Given the description of an element on the screen output the (x, y) to click on. 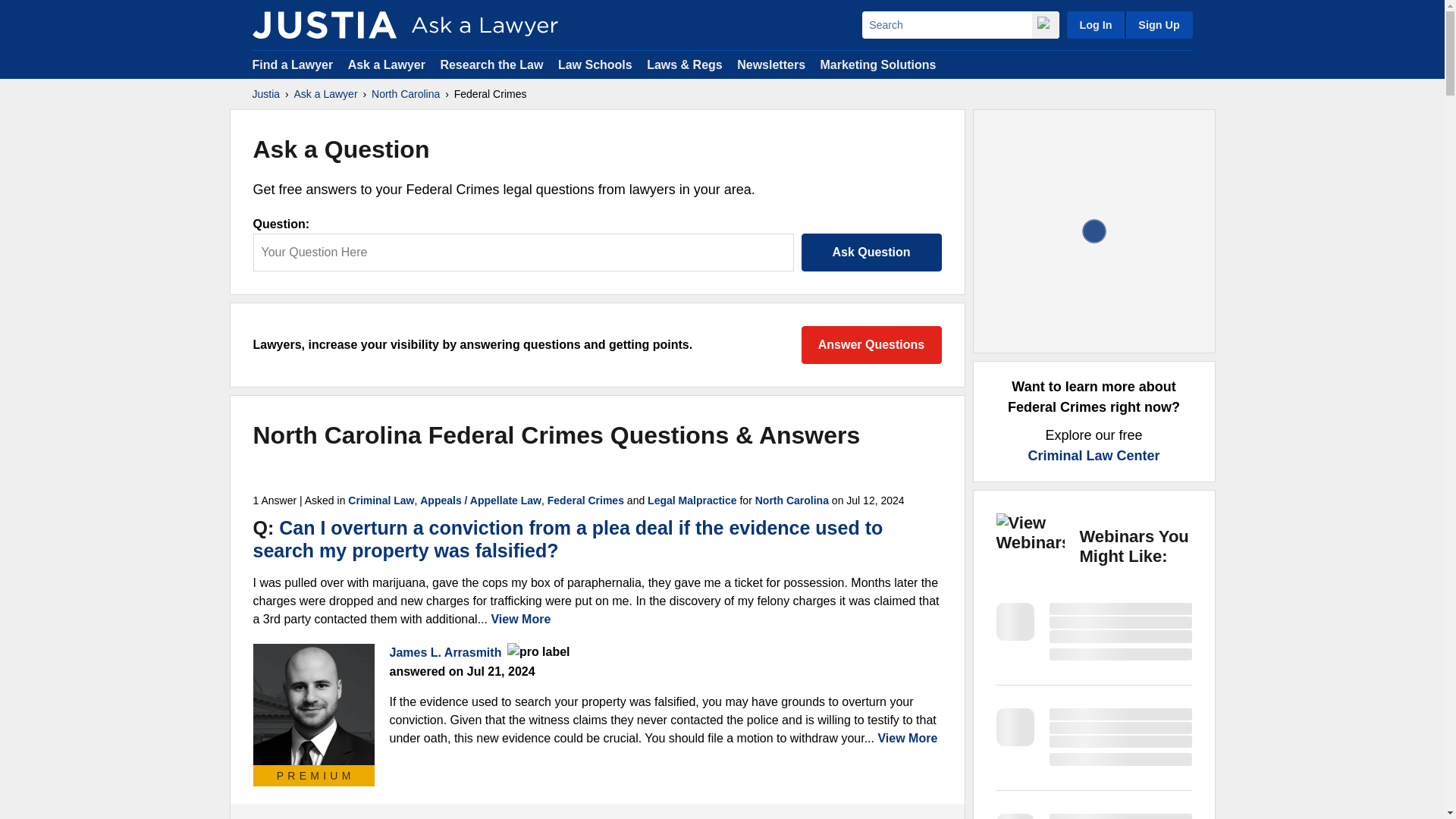
Research the Law (491, 64)
James L. Arrasmith (446, 652)
Search (945, 24)
Find a Lawyer (292, 64)
Law Schools (594, 64)
Ask a Lawyer (326, 93)
James L. Arrasmith (313, 703)
Federal Crimes (585, 500)
Answer Questions (870, 344)
Criminal Law (380, 500)
North Carolina (405, 93)
Sign Up (1158, 24)
Marketing Solutions (877, 64)
View More (525, 618)
